Given the description of an element on the screen output the (x, y) to click on. 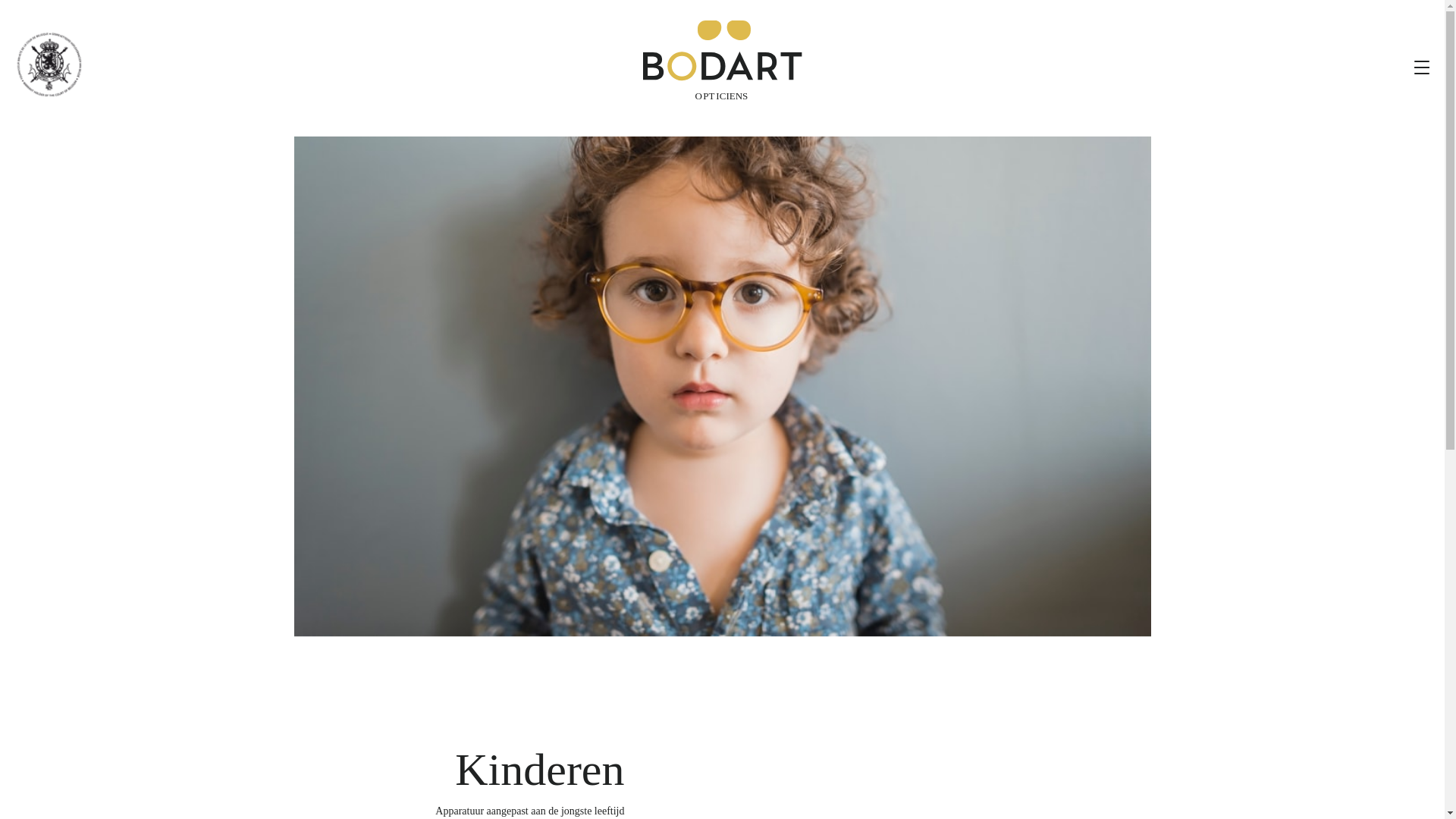
Bodart Opticiens Element type: hover (722, 60)
